Given the description of an element on the screen output the (x, y) to click on. 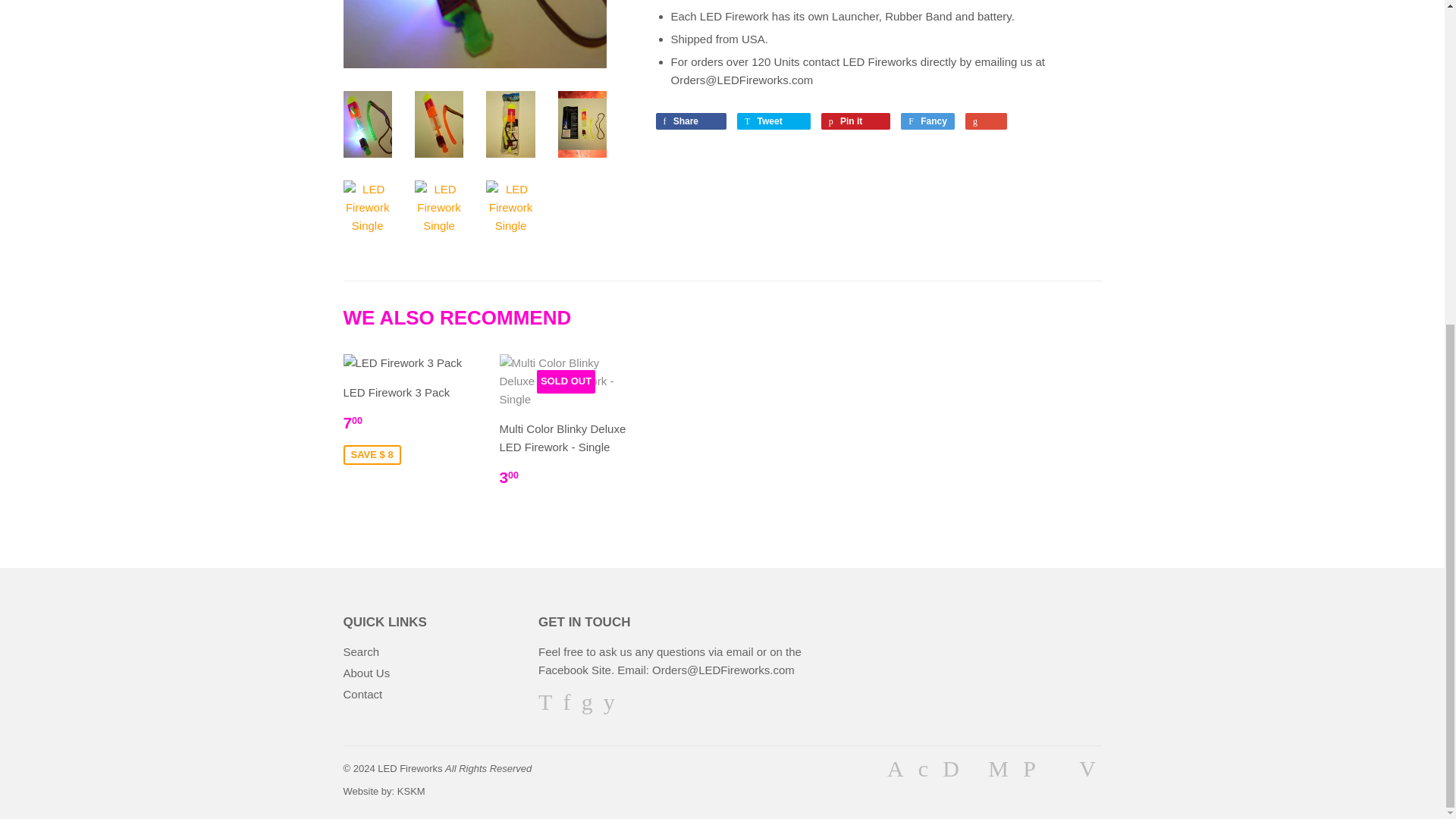
LED Fireworks on Twitter (544, 705)
Fancy (928, 121)
Pin it (855, 121)
KSKM (411, 790)
Tweet (773, 121)
Share (690, 121)
